Given the description of an element on the screen output the (x, y) to click on. 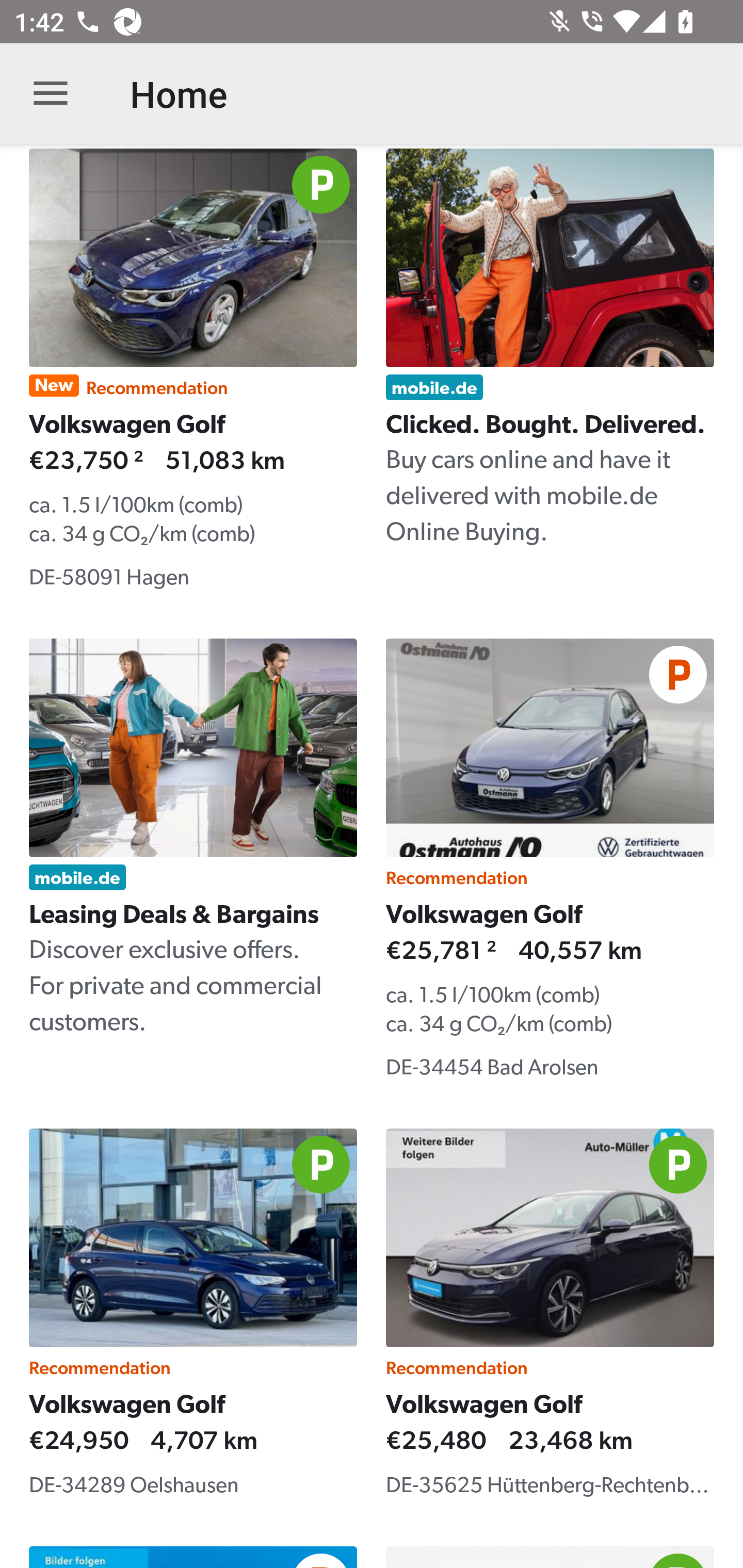
Open navigation bar (50, 93)
